Given the description of an element on the screen output the (x, y) to click on. 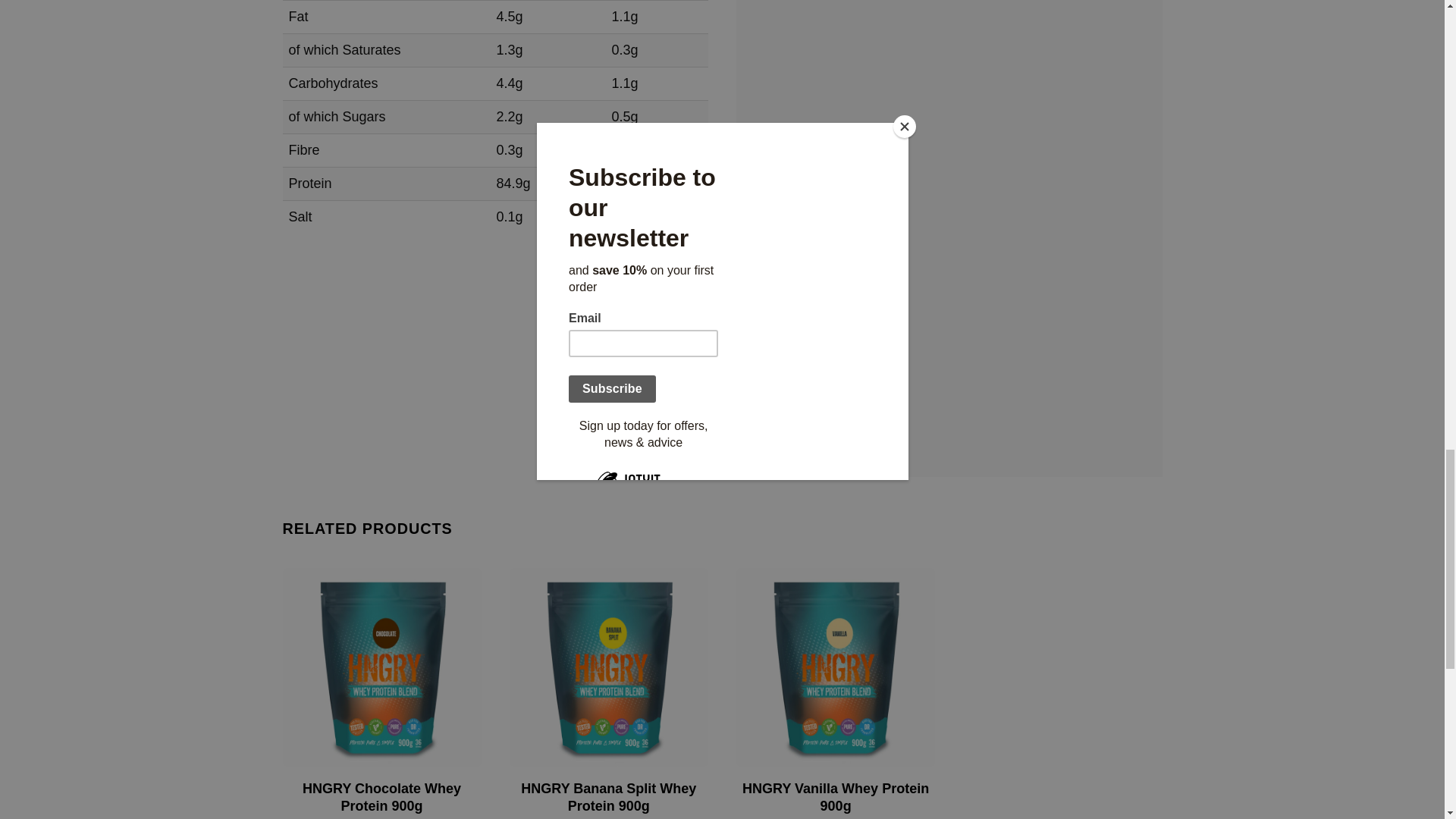
hngry banana split whey protein front 900g (608, 667)
hngry chocolate whey protein front 900g (381, 667)
hngry vanilla whey protein front 900g (835, 667)
HNGRY Chocolate Whey Protein 900g (381, 797)
HNGRY Vanilla Whey Protein 900g (835, 797)
HNGRY Banana Split Whey Protein 900g (608, 797)
